Given the description of an element on the screen output the (x, y) to click on. 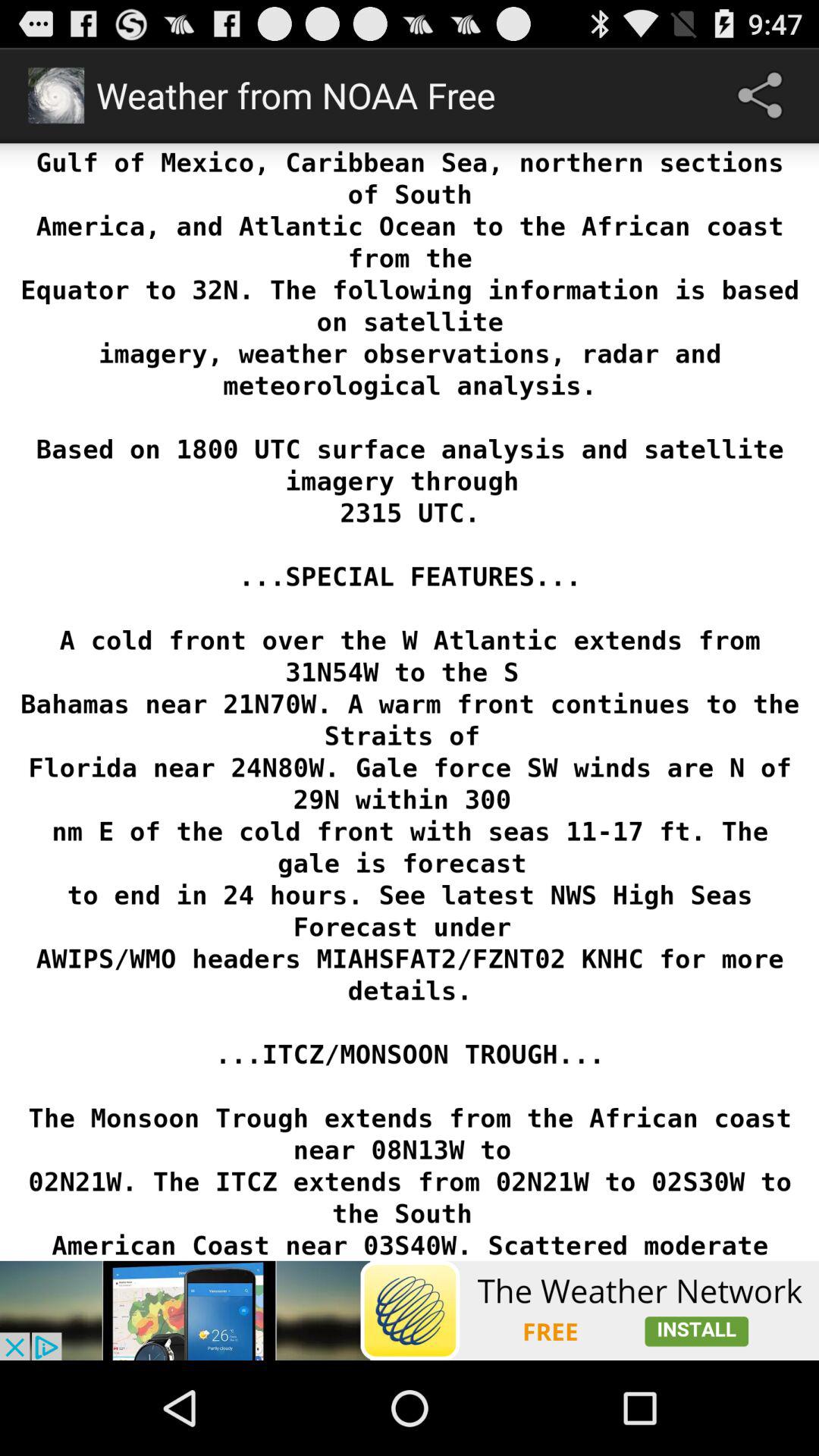
click advertisement (409, 1310)
